Given the description of an element on the screen output the (x, y) to click on. 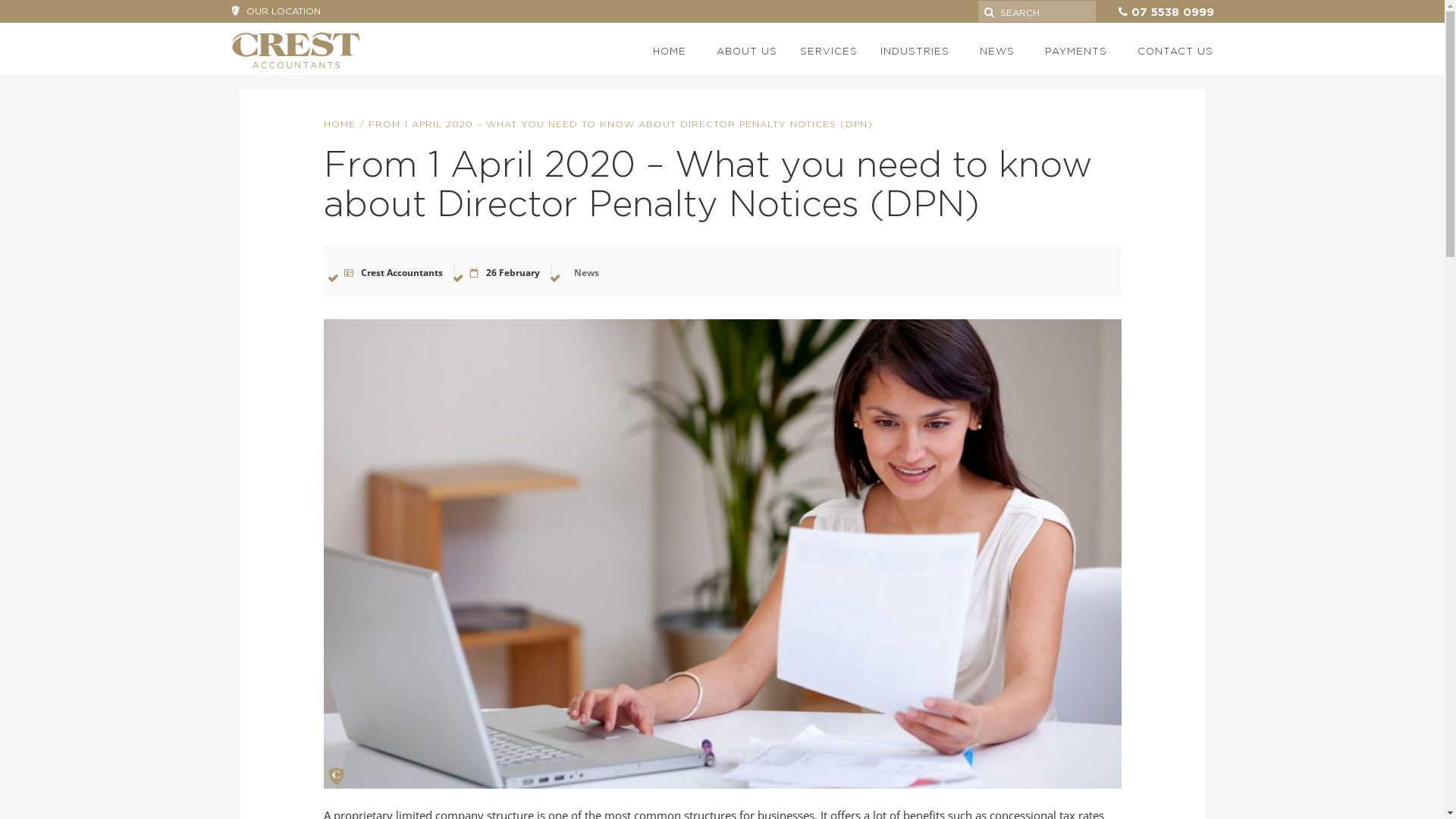
INDUSTRIES Element type: text (914, 50)
PAYMENTS Element type: text (1075, 50)
ABOUT US Element type: text (742, 50)
SERVICES Element type: text (824, 50)
NEWS Element type: text (996, 50)
Search Element type: text (1142, 36)
OUR LOCATION Element type: text (275, 10)
CONTACT US Element type: text (1167, 50)
HOME Element type: text (338, 123)
07 5538 0999 Element type: text (1172, 11)
HOME Element type: text (669, 50)
